Given the description of an element on the screen output the (x, y) to click on. 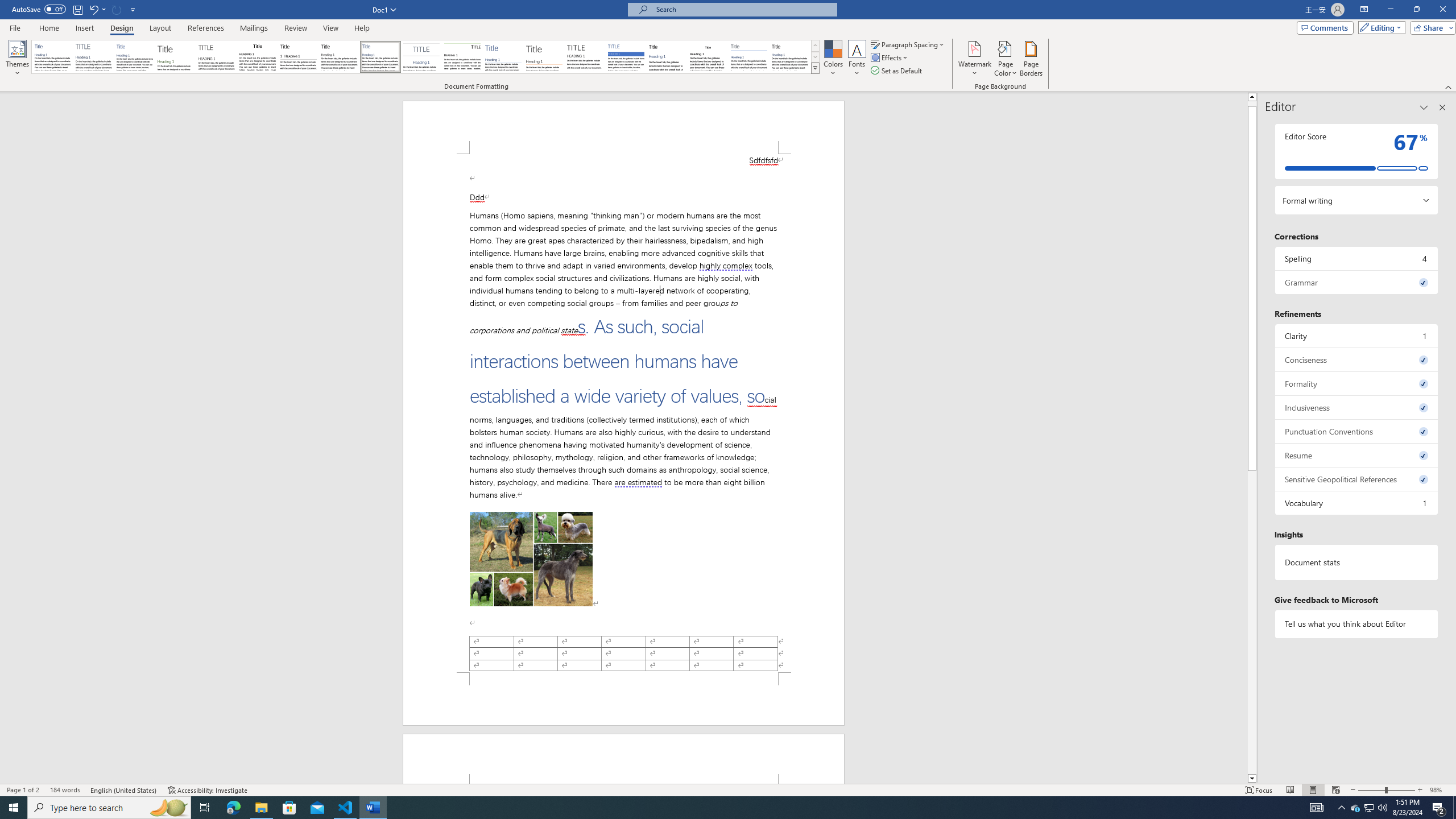
Page Color (1005, 58)
Black & White (Classic) (257, 56)
Colors (832, 58)
Line down (1251, 778)
Spelling, 4 issues. Press space or enter to review items. (1356, 258)
Page Number Page 1 of 2 (22, 790)
Word 2010 (749, 56)
Clarity, 1 issue. Press space or enter to review items. (1356, 335)
